Given the description of an element on the screen output the (x, y) to click on. 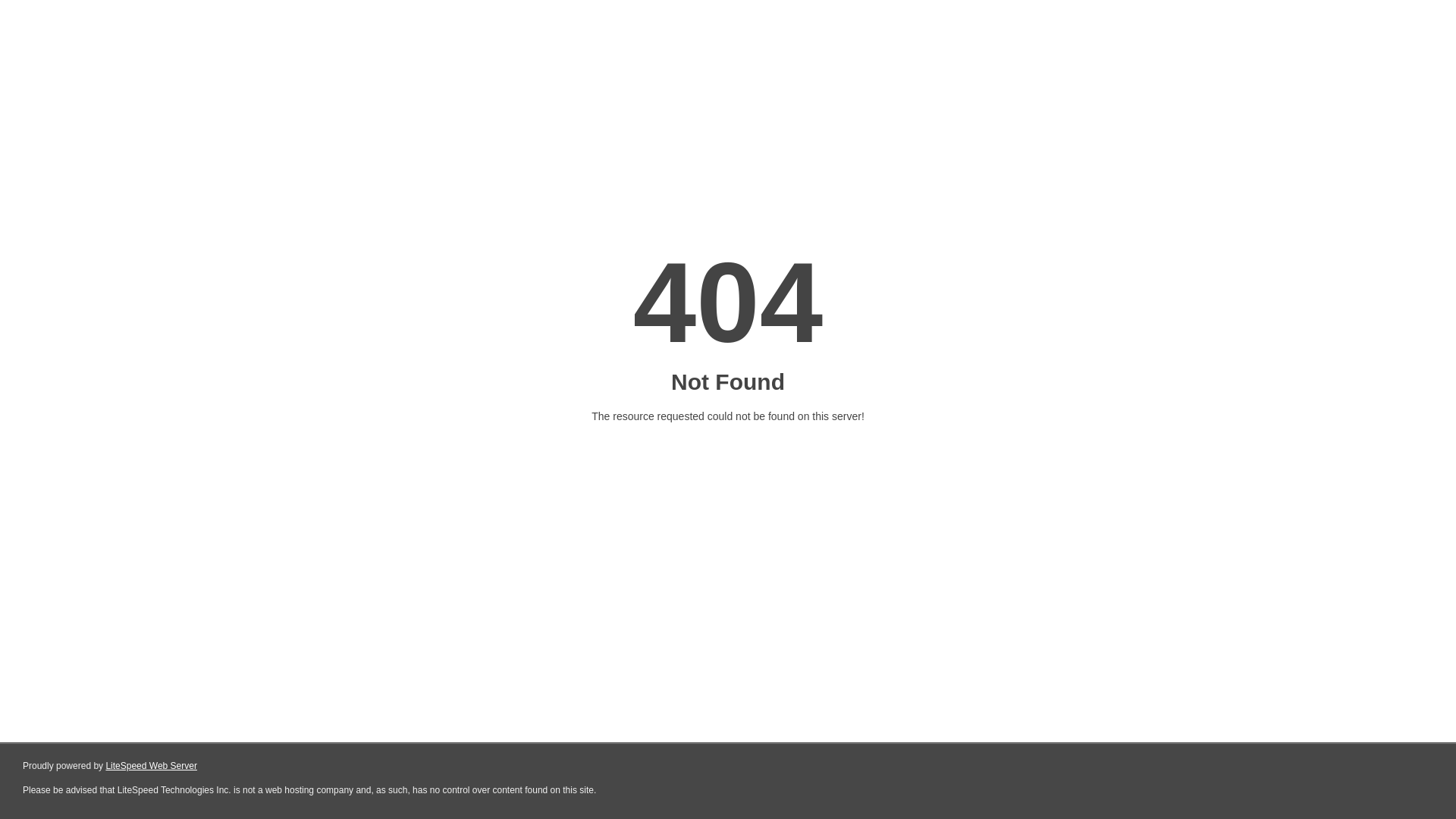
LiteSpeed Web Server Element type: text (151, 765)
